Given the description of an element on the screen output the (x, y) to click on. 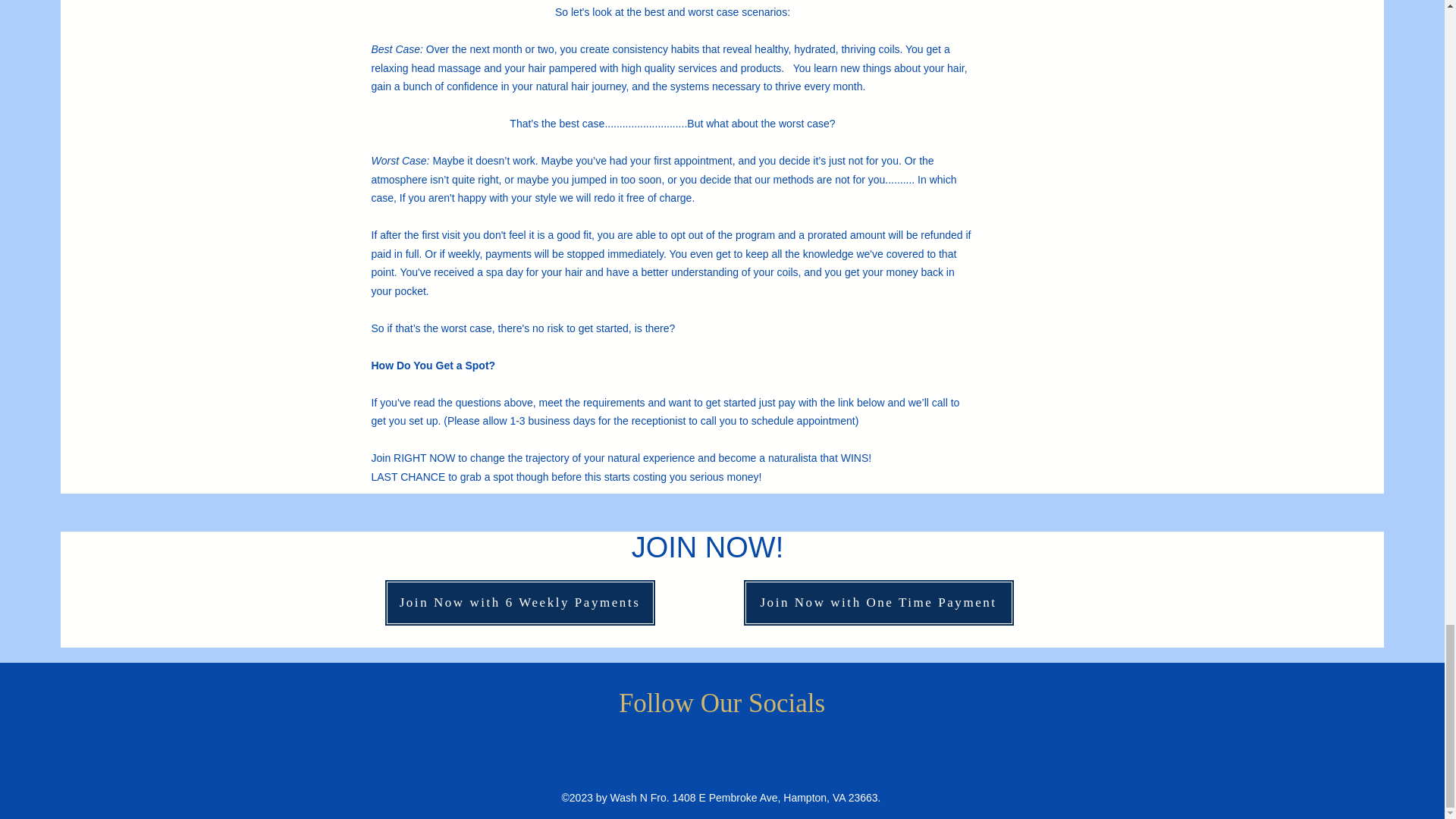
Join Now with 6 Weekly Payments (519, 602)
Join Now with One Time Payment (878, 602)
